Given the description of an element on the screen output the (x, y) to click on. 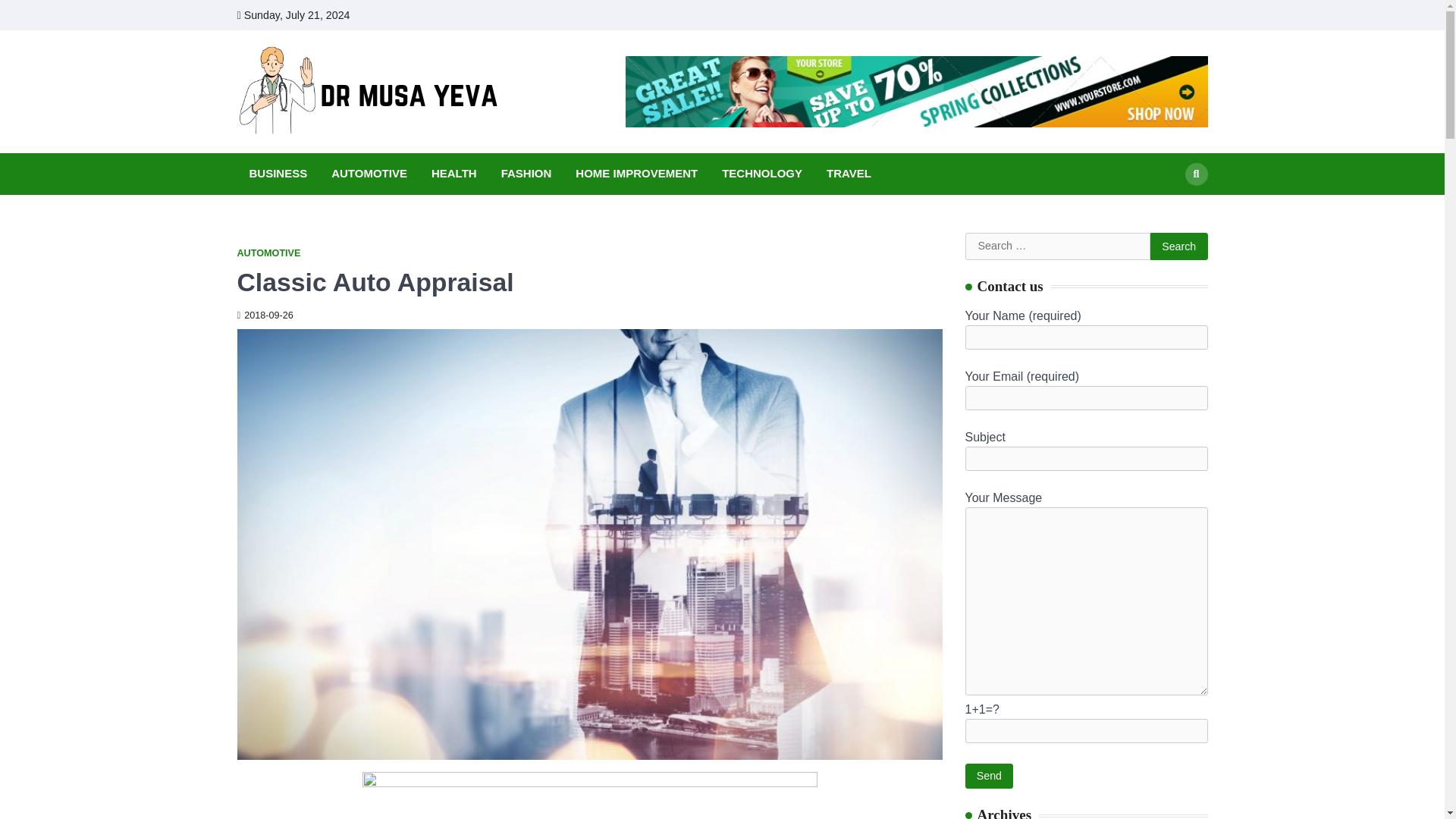
FASHION (526, 173)
Send (988, 775)
AUTOMOTIVE (267, 253)
HOME IMPROVEMENT (636, 173)
Search (1179, 246)
Send (988, 775)
BUSINESS (278, 173)
Search (1179, 246)
Dr. Musayeva (586, 107)
HEALTH (454, 173)
TRAVEL (849, 173)
Search (1179, 246)
Search (1196, 173)
Search (1168, 208)
TECHNOLOGY (762, 173)
